Given the description of an element on the screen output the (x, y) to click on. 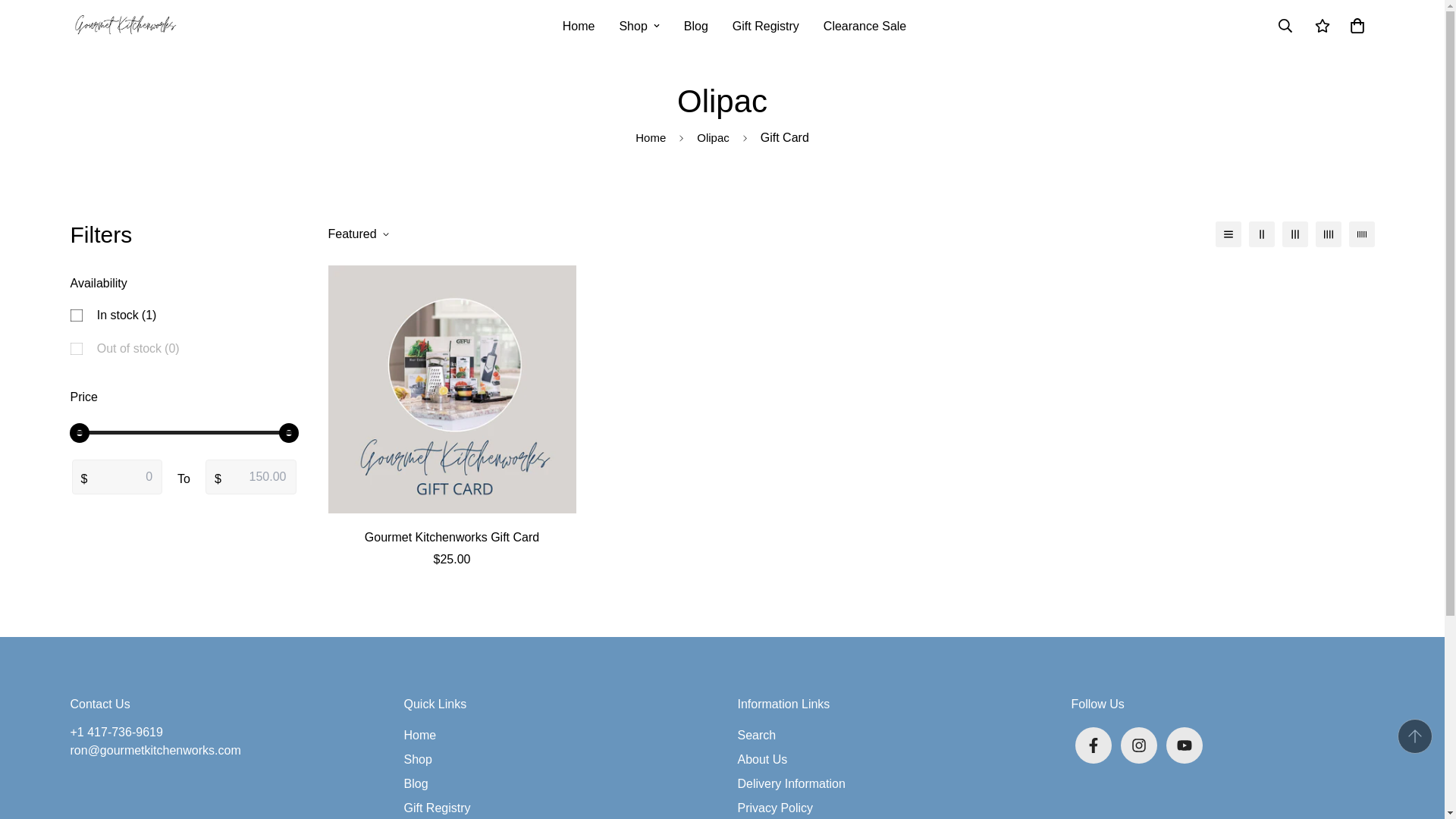
Gourmet Kitchenworks (124, 25)
Olipac (722, 101)
Olipac (712, 138)
0 (183, 432)
Back to the home page (650, 138)
Home (650, 138)
Follow Us (1222, 732)
Shop (639, 25)
150 (183, 432)
Gift Registry (765, 25)
